Given the description of an element on the screen output the (x, y) to click on. 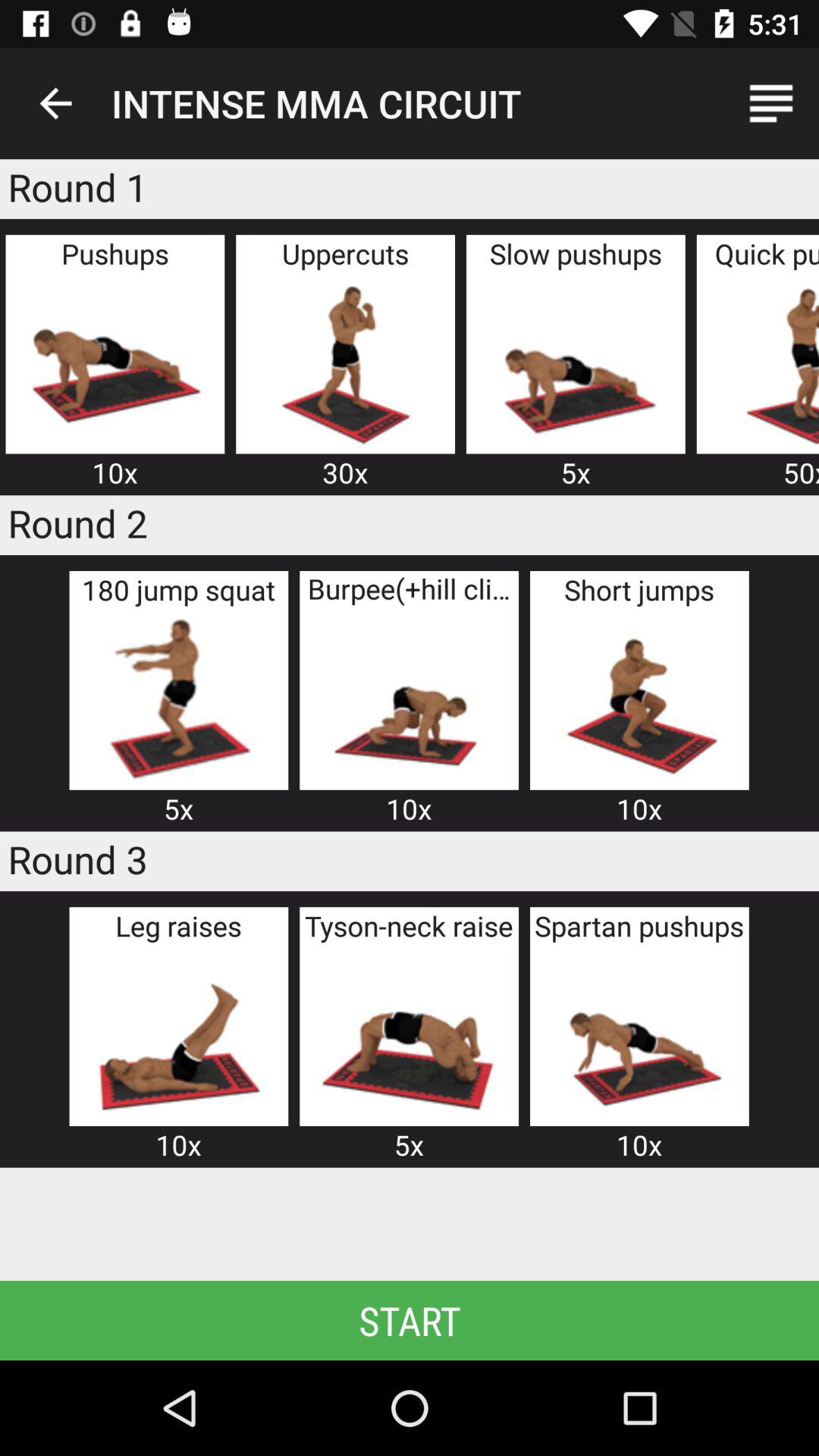
image of person doing uppercuts motions (344, 362)
